Given the description of an element on the screen output the (x, y) to click on. 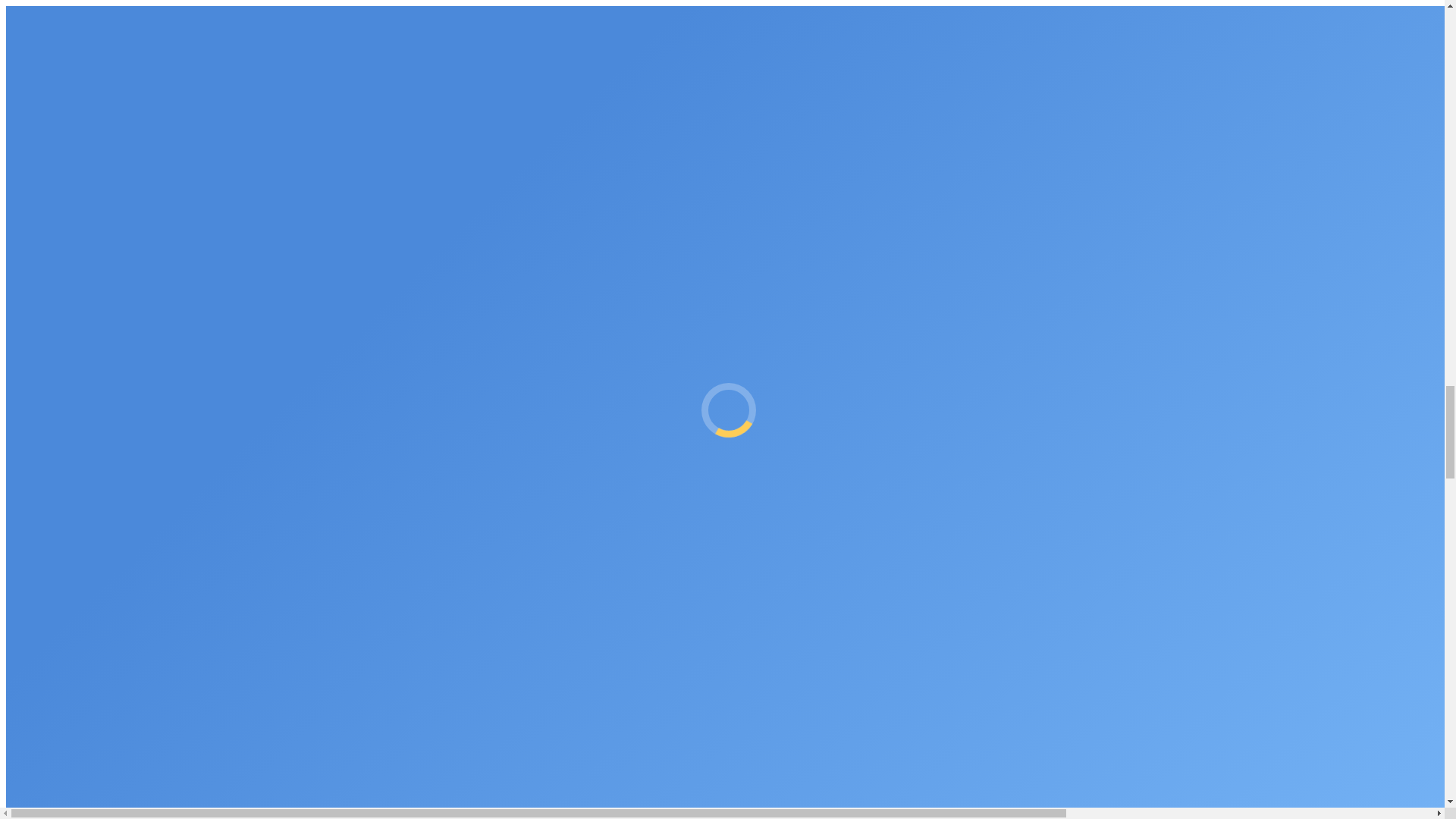
10:00 am (150, 135)
View all posts by Ralph Malachowski (62, 135)
